Given the description of an element on the screen output the (x, y) to click on. 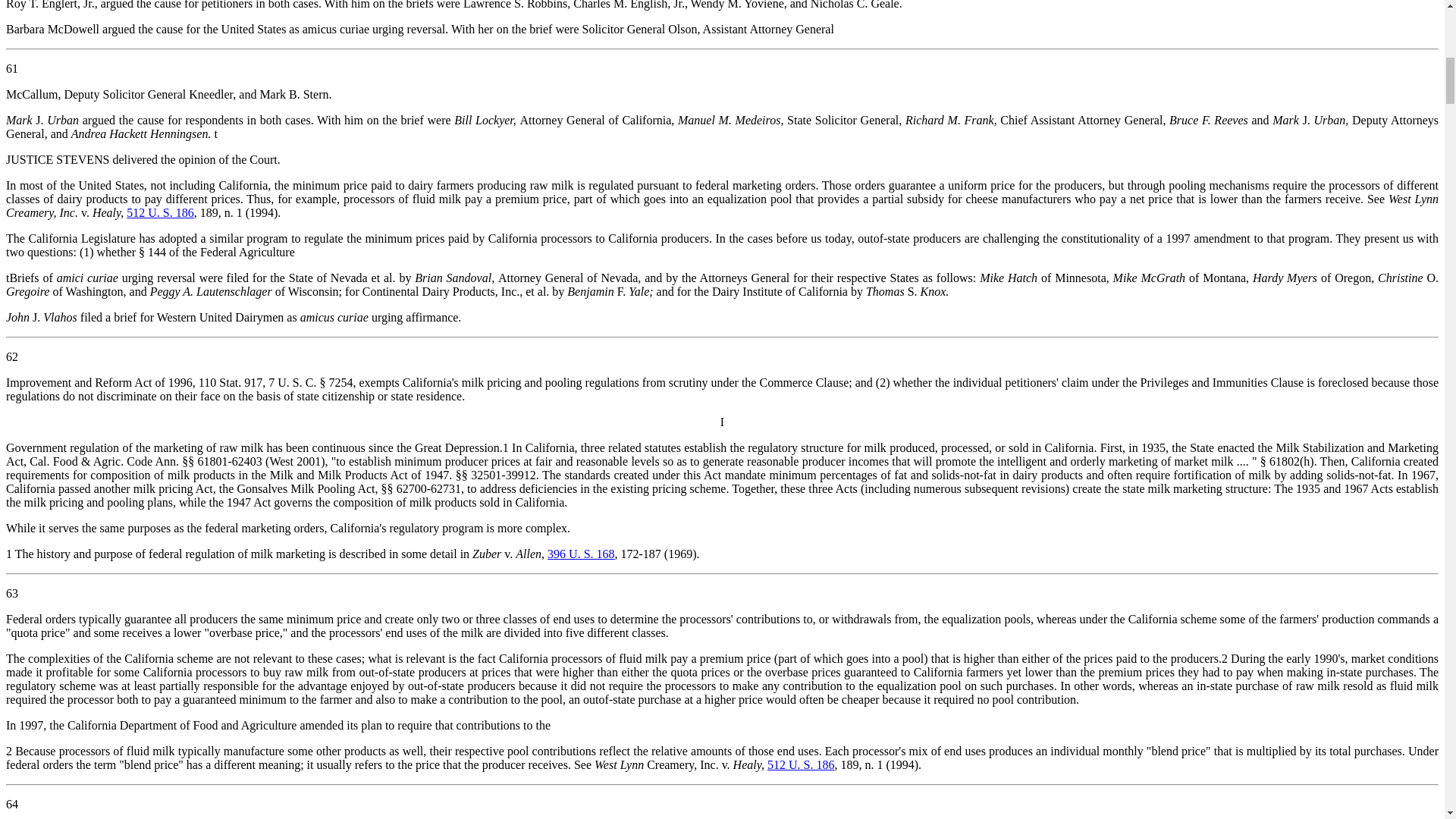
512 U. S. 186 (800, 764)
62 (11, 356)
64 (11, 803)
512 U. S. 186 (159, 212)
61 (11, 68)
63 (11, 593)
396 U. S. 168 (580, 553)
